Given the description of an element on the screen output the (x, y) to click on. 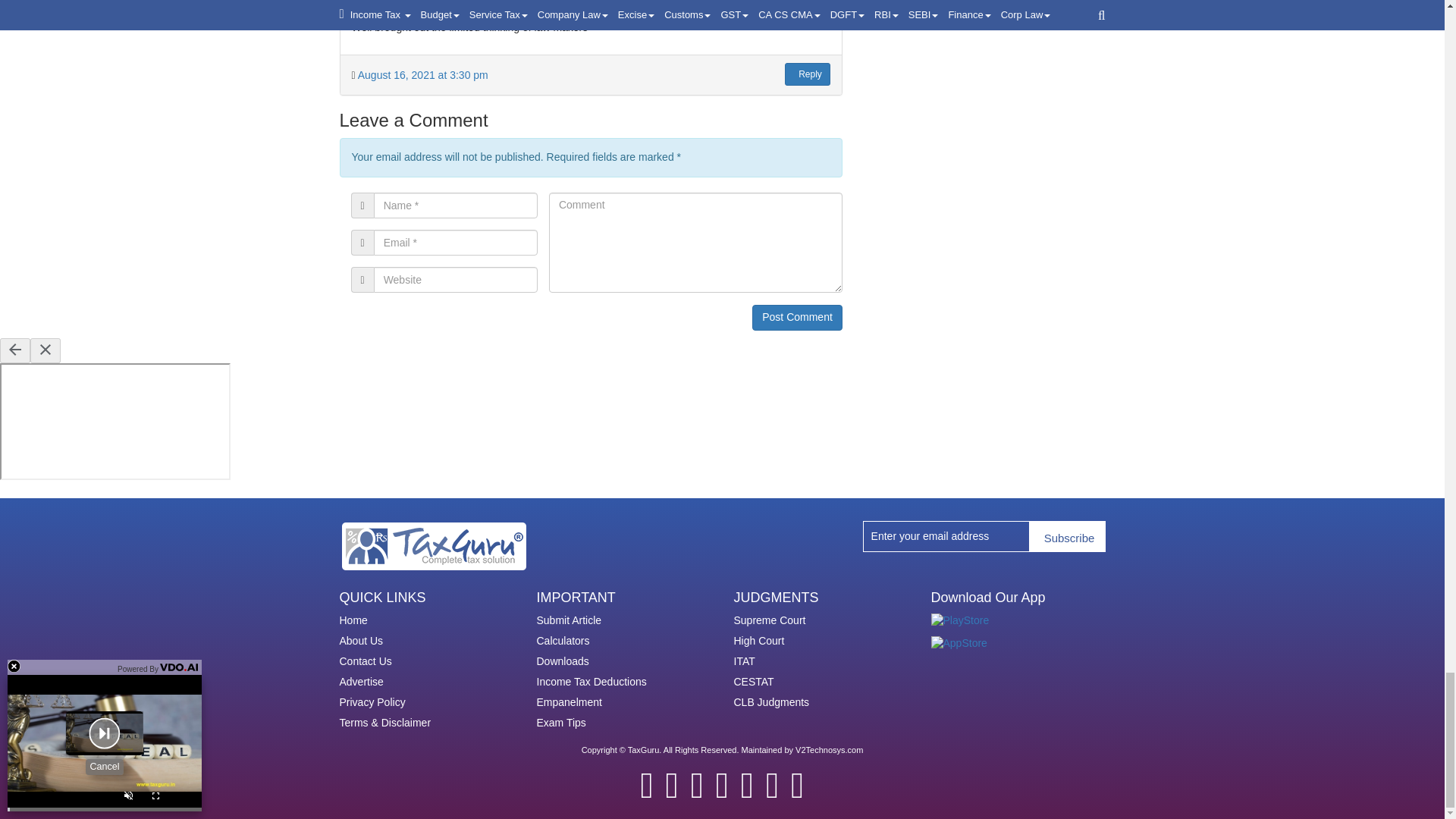
Subscribe (1067, 536)
